Given the description of an element on the screen output the (x, y) to click on. 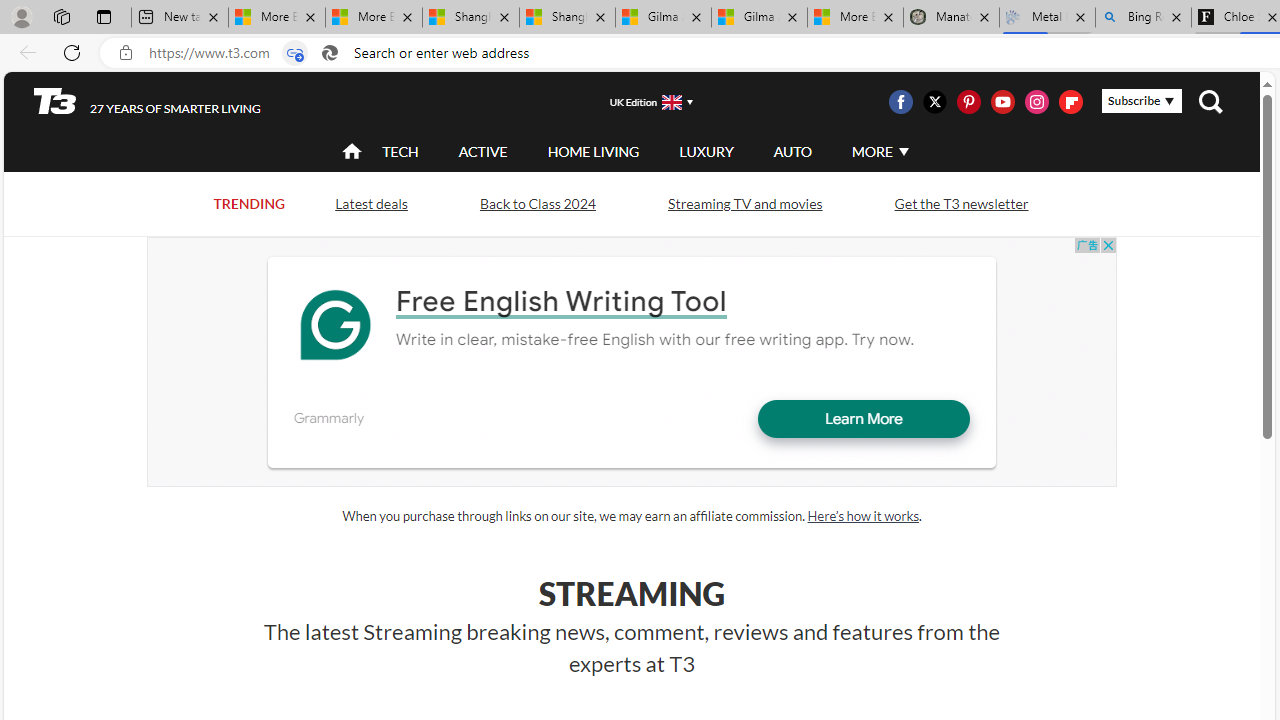
Shanghai, China weather forecast | Microsoft Weather (567, 17)
Get the T3 newsletter (960, 204)
Tabs in split screen (294, 53)
Get the T3 newsletter (961, 202)
Bing Real Estate - Home sales and rental listings (1143, 17)
Visit us on Facebook (900, 101)
Back to Class 2024 (537, 204)
home (352, 152)
Search icon (329, 53)
Streaming TV and movies (744, 202)
TECH (399, 151)
Class: navigation__search (1210, 101)
